Given the description of an element on the screen output the (x, y) to click on. 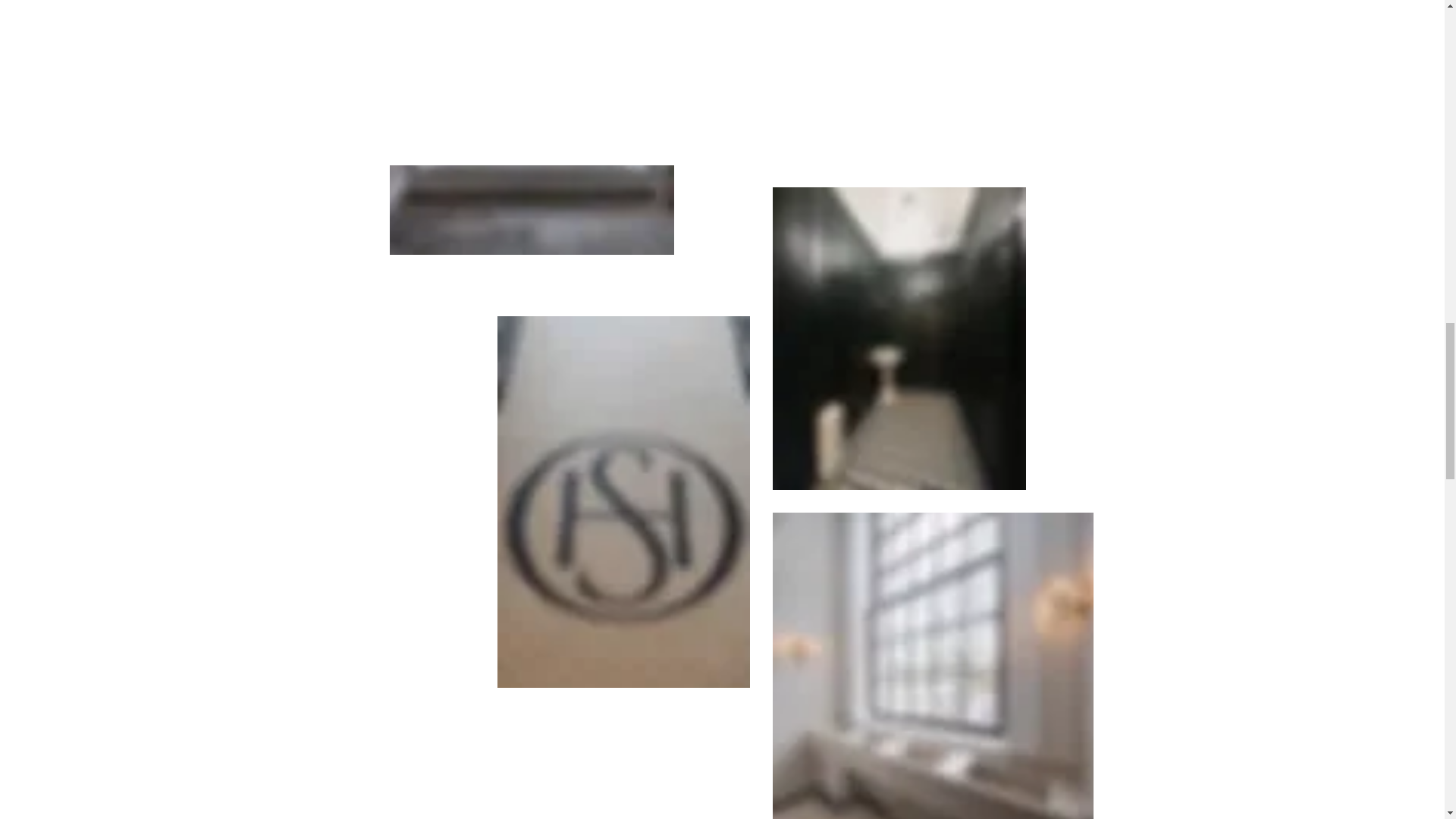
osh MC1900-8103-HR.jpg (532, 127)
